Given the description of an element on the screen output the (x, y) to click on. 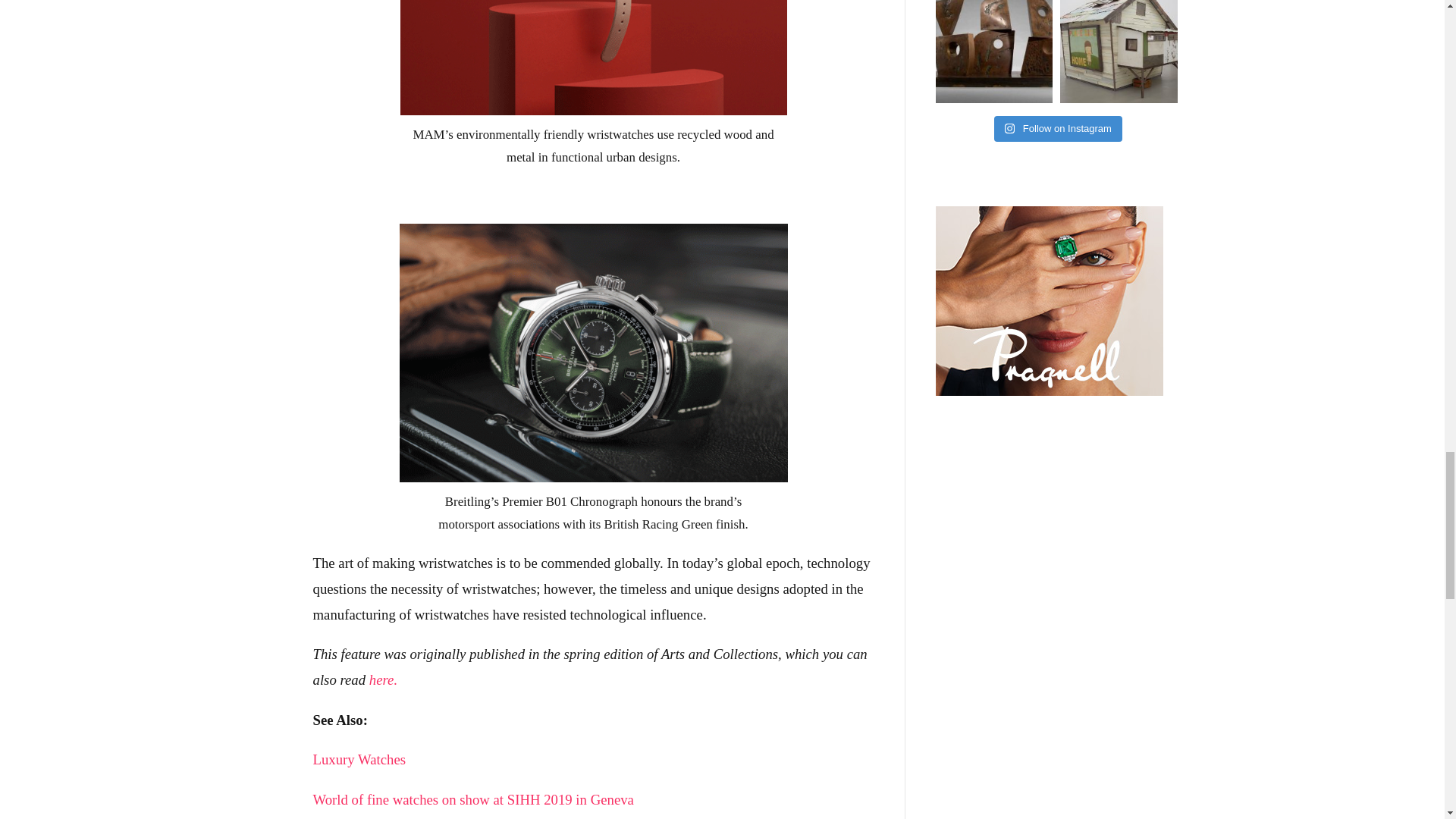
Luxury Watches (359, 759)
here.  (385, 679)
World of fine watches on show at SIHH 2019 in Geneva (473, 799)
